Given the description of an element on the screen output the (x, y) to click on. 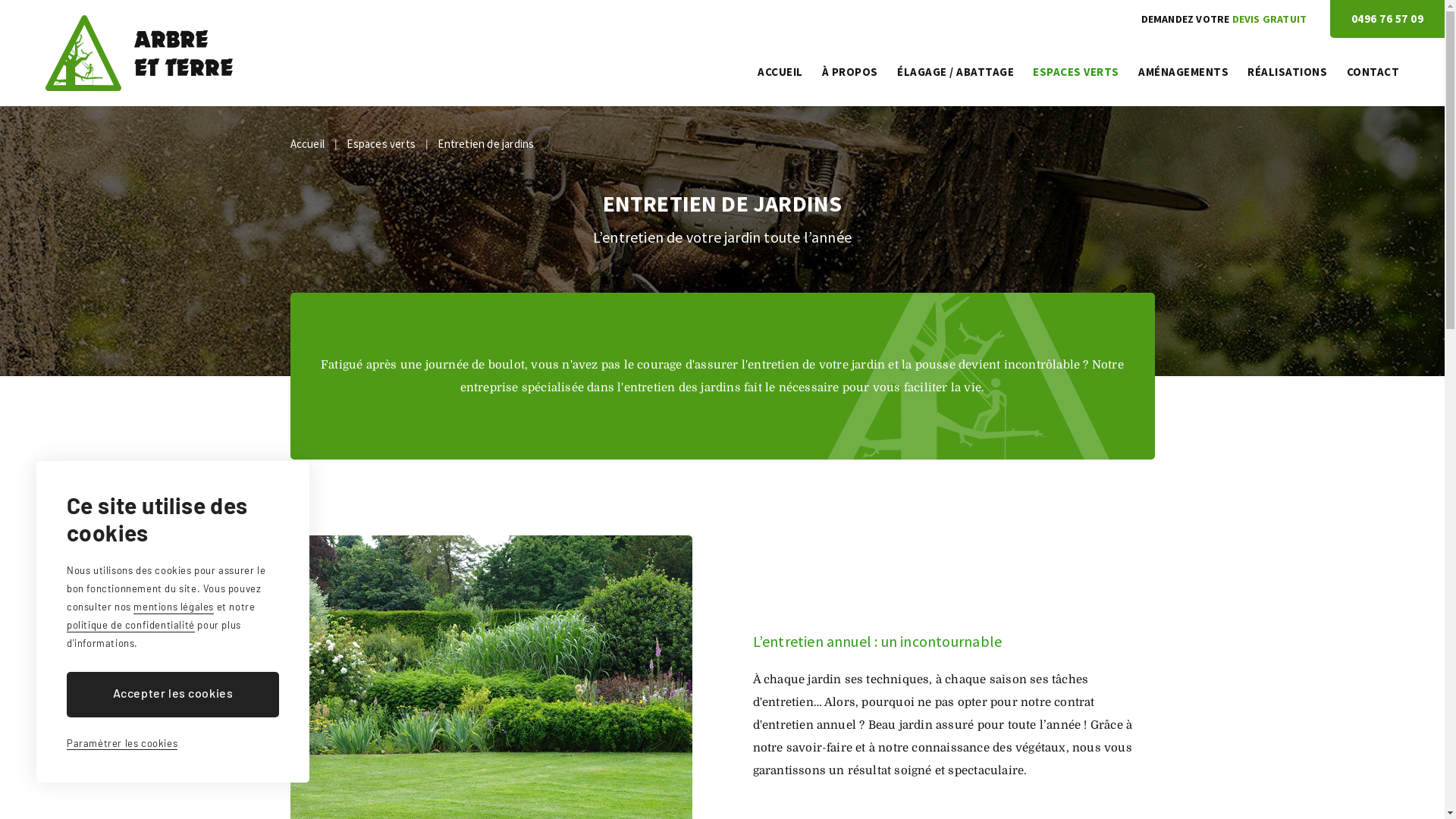
Entretien de jardins Element type: text (485, 143)
Espaces verts Element type: text (380, 143)
ACCUEIL Element type: text (780, 71)
CONTACT Element type: text (1372, 71)
Arbre et terre Element type: hover (138, 53)
ESPACES VERTS Element type: text (1075, 71)
0496 76 57 09 Element type: text (1387, 18)
Accueil Element type: text (306, 143)
